Given the description of an element on the screen output the (x, y) to click on. 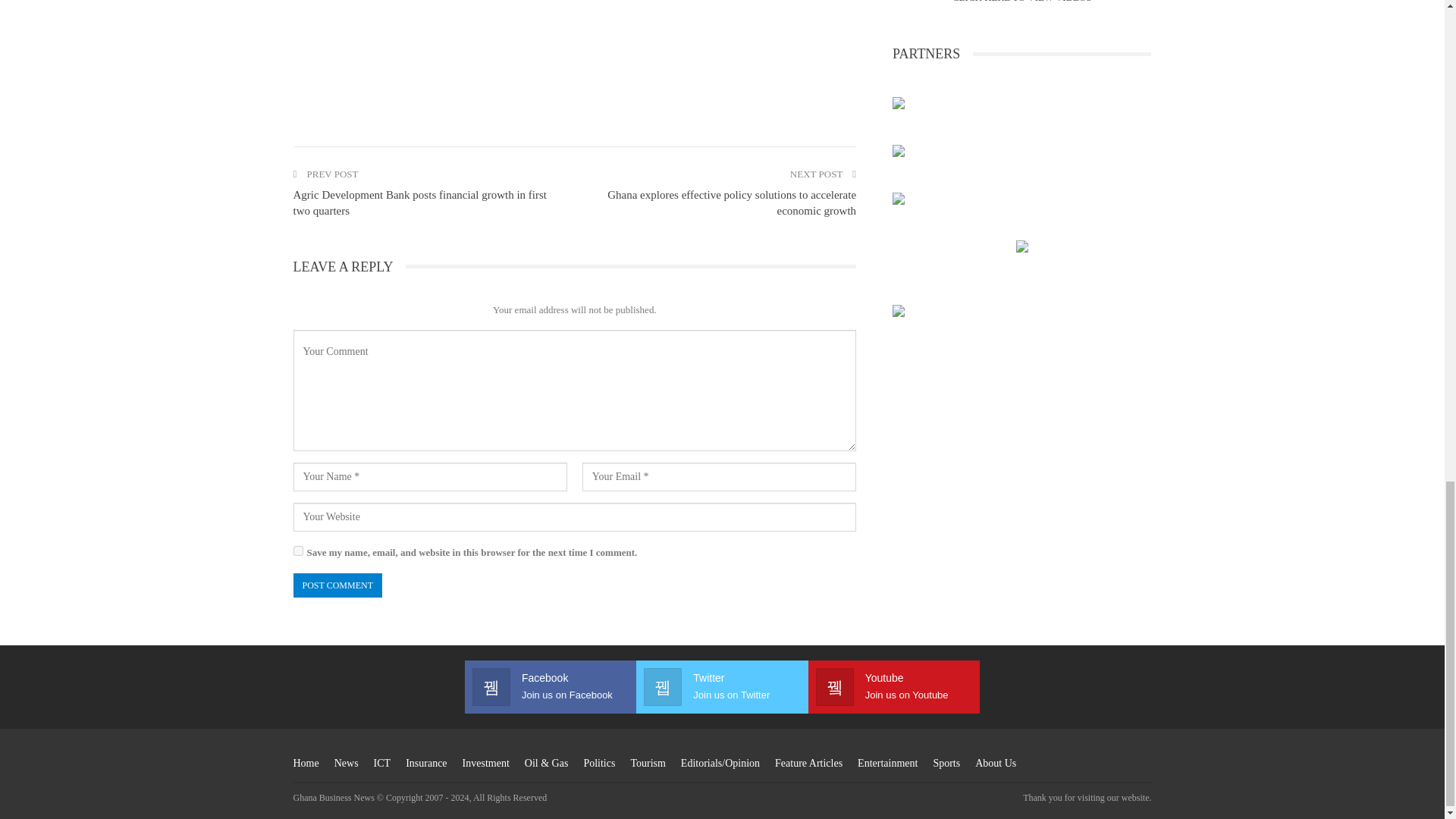
Post Comment (336, 585)
yes (297, 551)
Post Comment (336, 585)
